Given the description of an element on the screen output the (x, y) to click on. 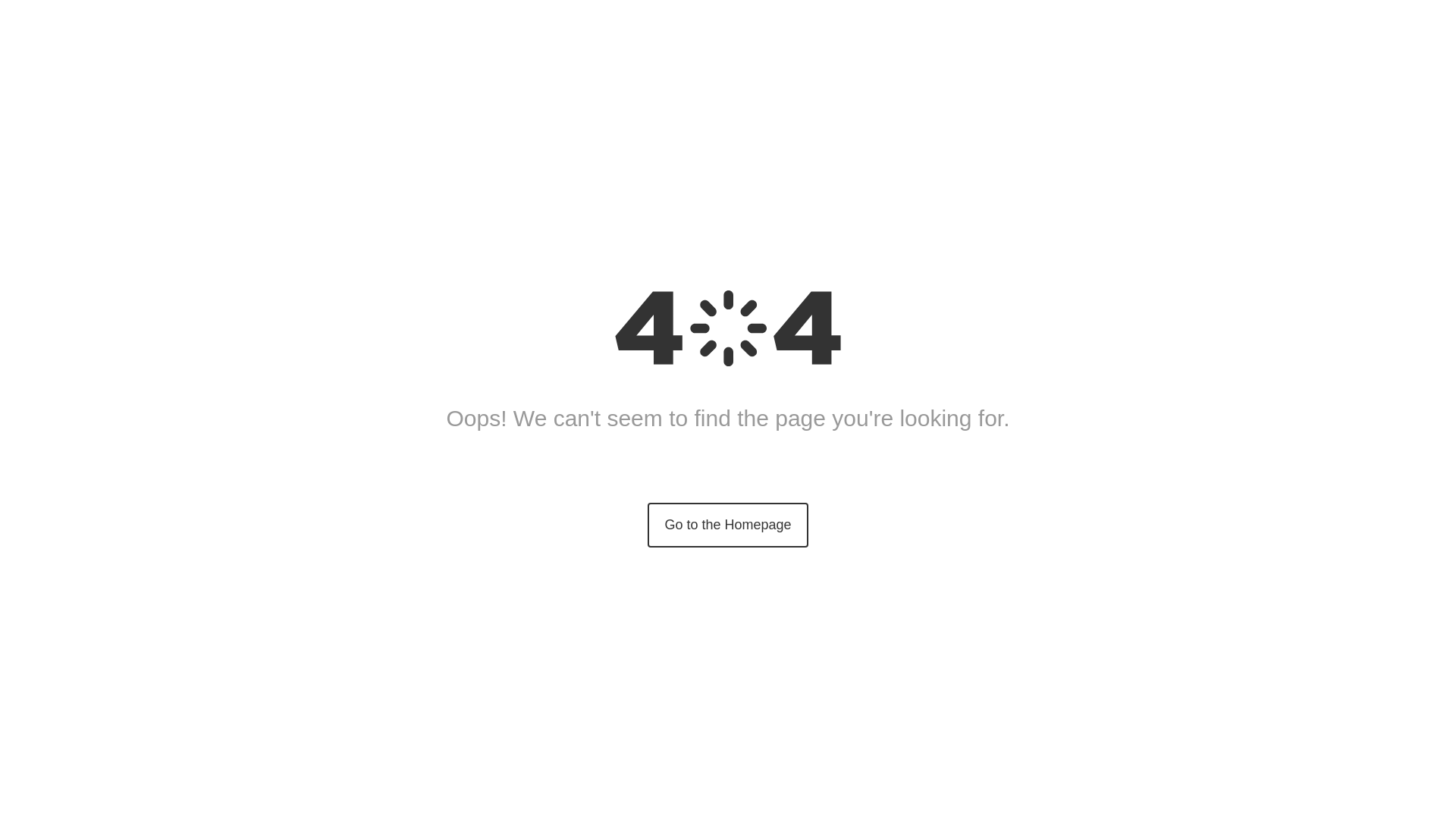
Go to the Homepage Element type: text (727, 524)
